Given the description of an element on the screen output the (x, y) to click on. 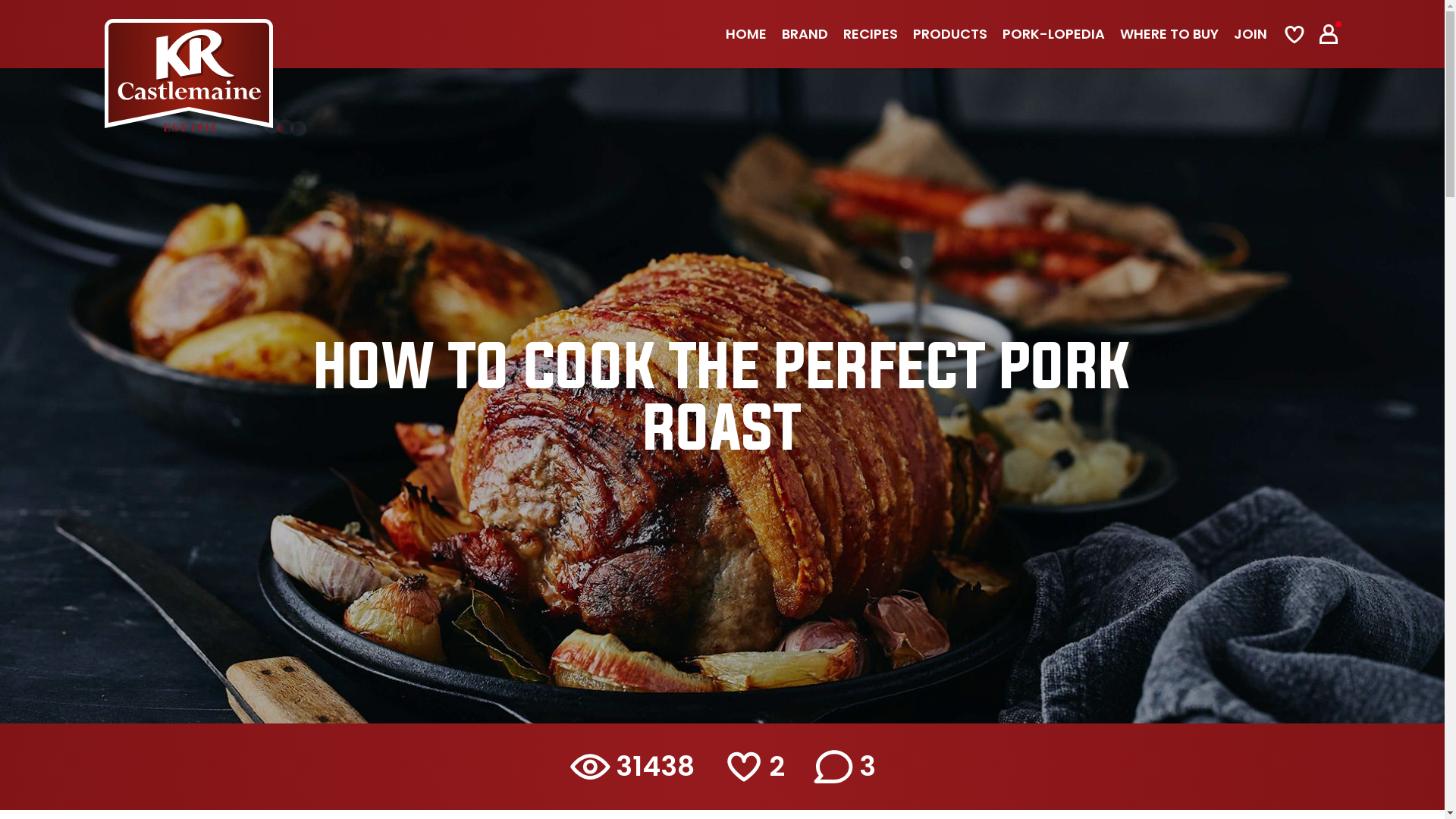
JOIN Element type: text (1250, 34)
PRODUCTS Element type: text (950, 34)
HOME Element type: text (745, 34)
PORK-LOPEDIA Element type: text (1053, 34)
BRAND Element type: text (804, 34)
WHERE TO BUY Element type: text (1169, 34)
RECIPES Element type: text (870, 34)
